Given the description of an element on the screen output the (x, y) to click on. 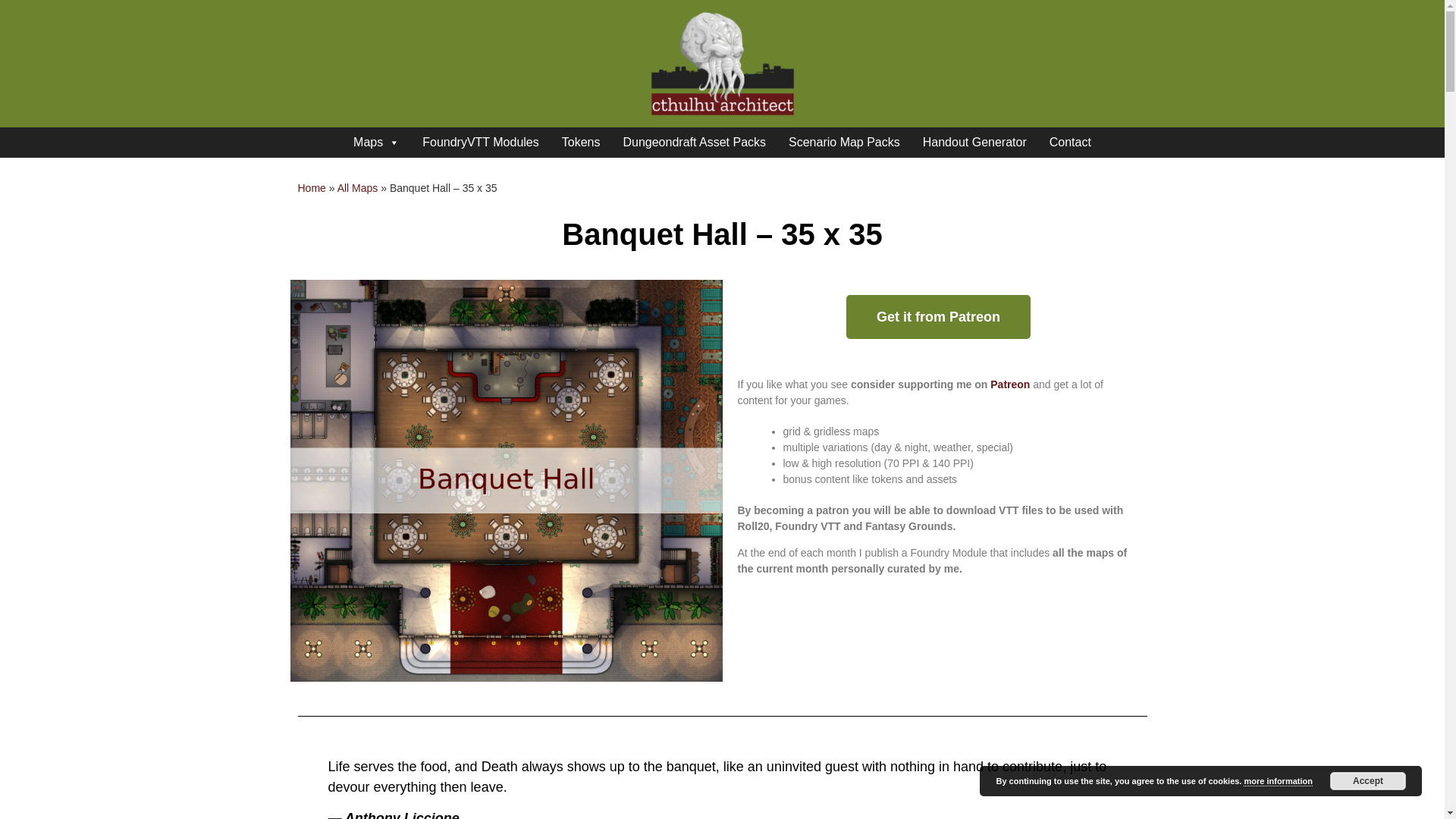
Dungeondraft Asset Packs (694, 142)
FoundryVTT Modules (480, 142)
Scenario Map Packs (844, 142)
Handout Generator (974, 142)
Home (310, 187)
Maps (376, 142)
All Maps (357, 187)
Contact (1070, 142)
Tokens (580, 142)
